Given the description of an element on the screen output the (x, y) to click on. 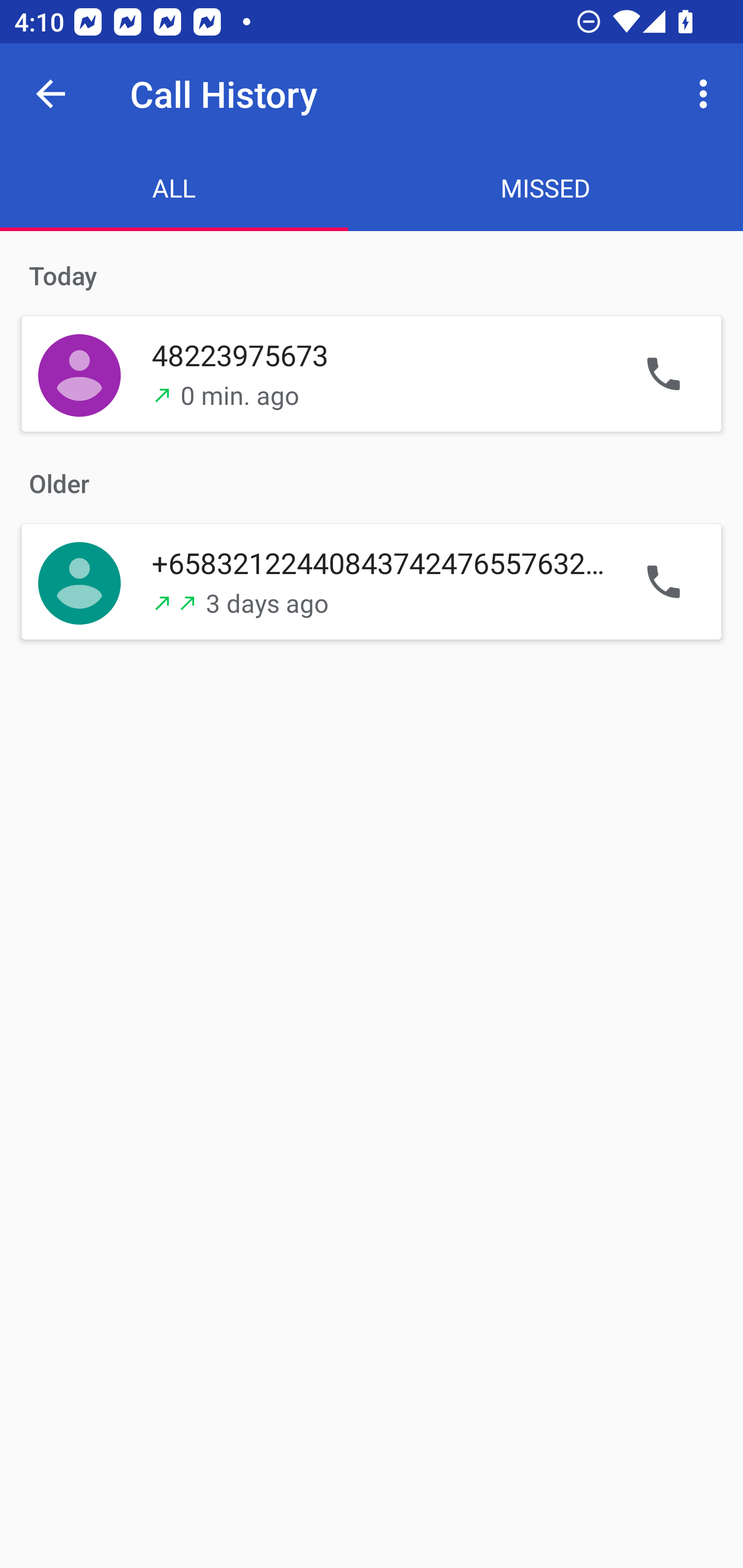
Navigate up (50, 93)
More options (706, 93)
ALL (174, 187)
MISSED (545, 187)
Quick contact for 48223975673 (79, 373)
Call 48223975673 (663, 373)
Quick contact for +65832122440843742476557632278 (79, 581)
Call +65832122440843742476557632278 (663, 581)
